Given the description of an element on the screen output the (x, y) to click on. 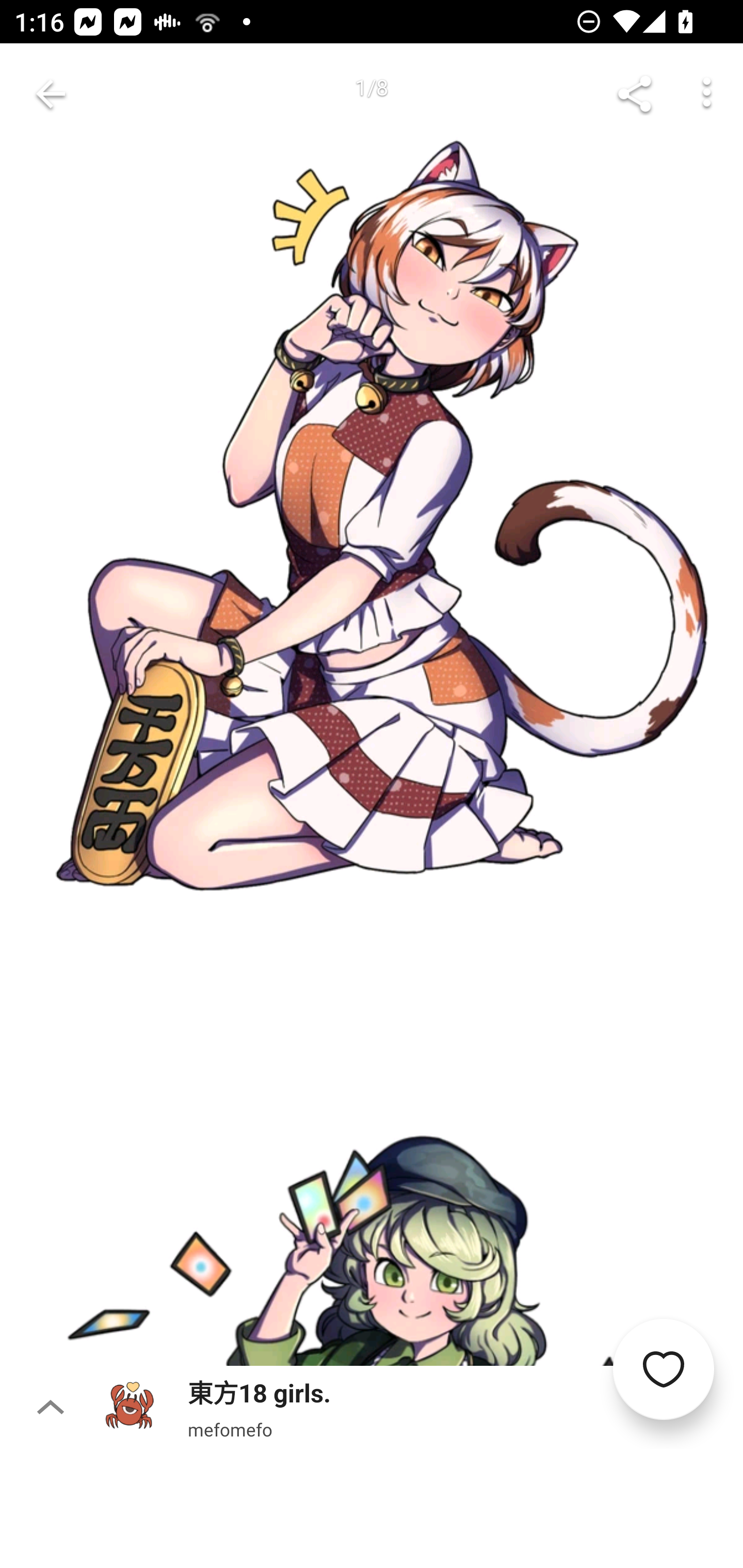
Share (634, 93)
More options (706, 93)
東方18 girls. mefomefo (422, 1406)
mefomefo (229, 1428)
